Given the description of an element on the screen output the (x, y) to click on. 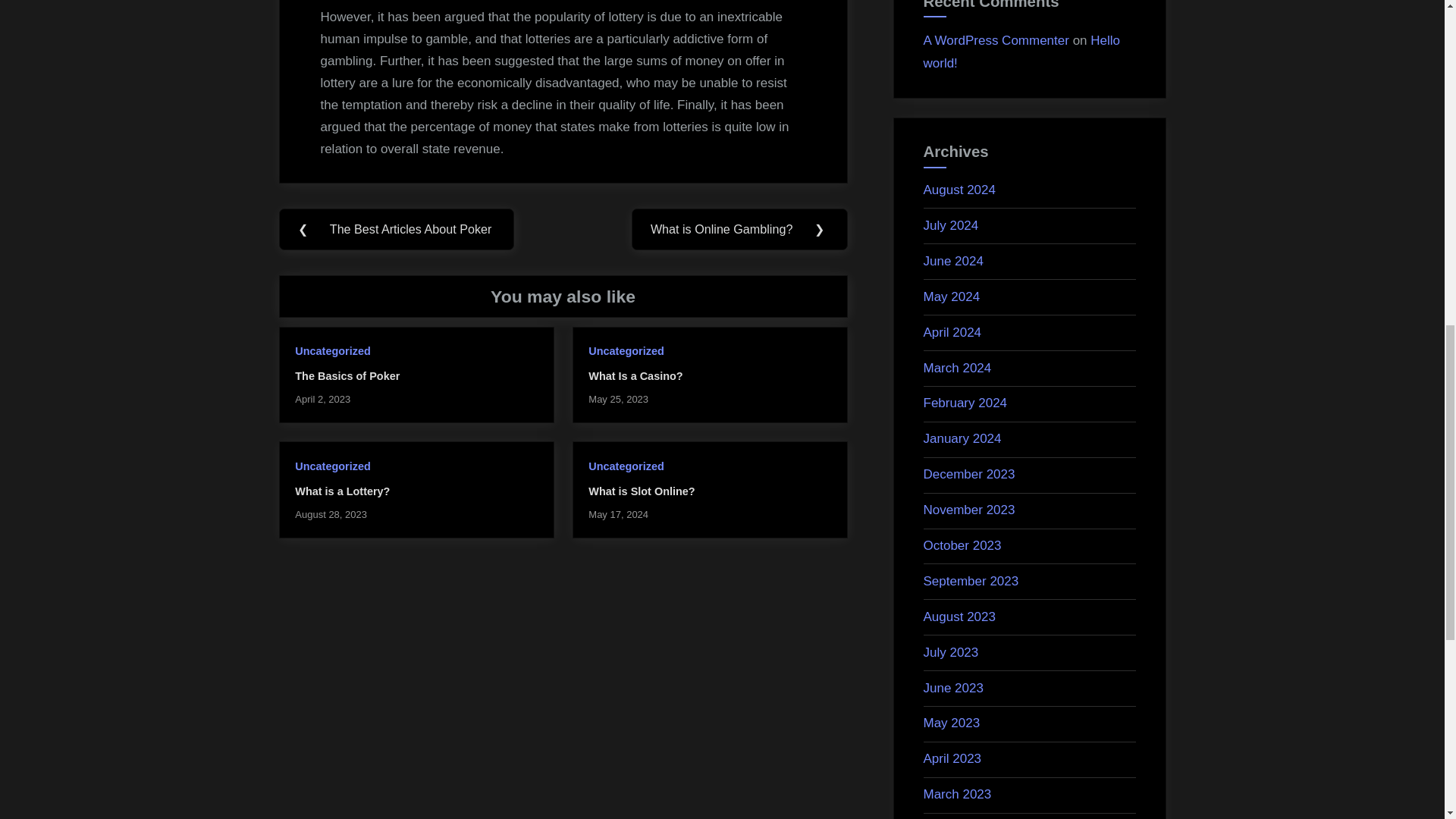
Uncategorized (332, 466)
January 2024 (962, 438)
What Is a Casino? (635, 376)
A WordPress Commenter (995, 40)
Uncategorized (625, 466)
August 2023 (959, 616)
What is Slot Online? (641, 491)
February 2024 (965, 402)
April 2024 (952, 332)
September 2023 (971, 581)
